Given the description of an element on the screen output the (x, y) to click on. 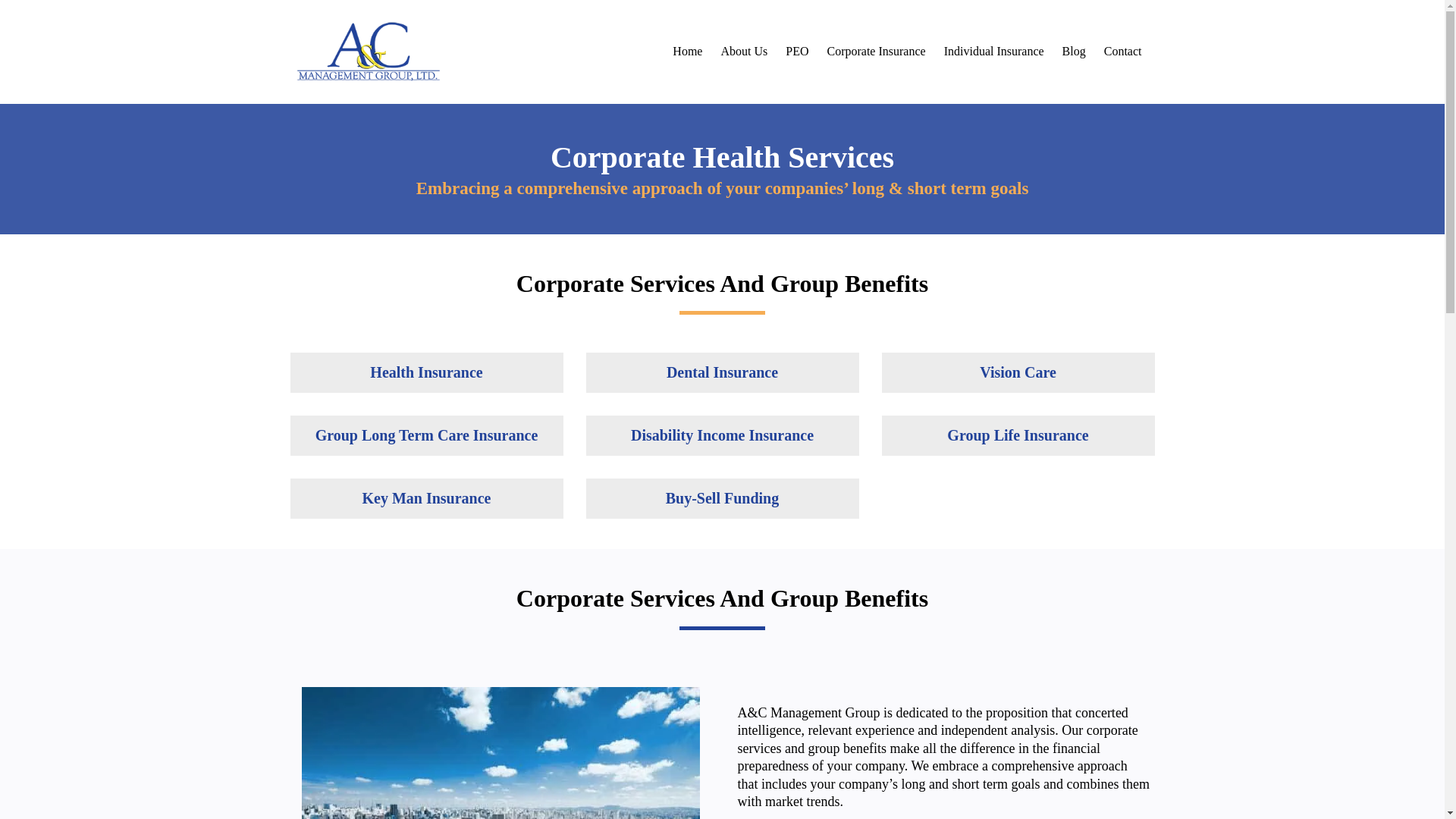
PEO (796, 51)
About Us (743, 51)
Home (687, 51)
Blog (1073, 51)
Contact (1122, 51)
Individual Insurance (993, 51)
Corporate Insurance (875, 51)
